Given the description of an element on the screen output the (x, y) to click on. 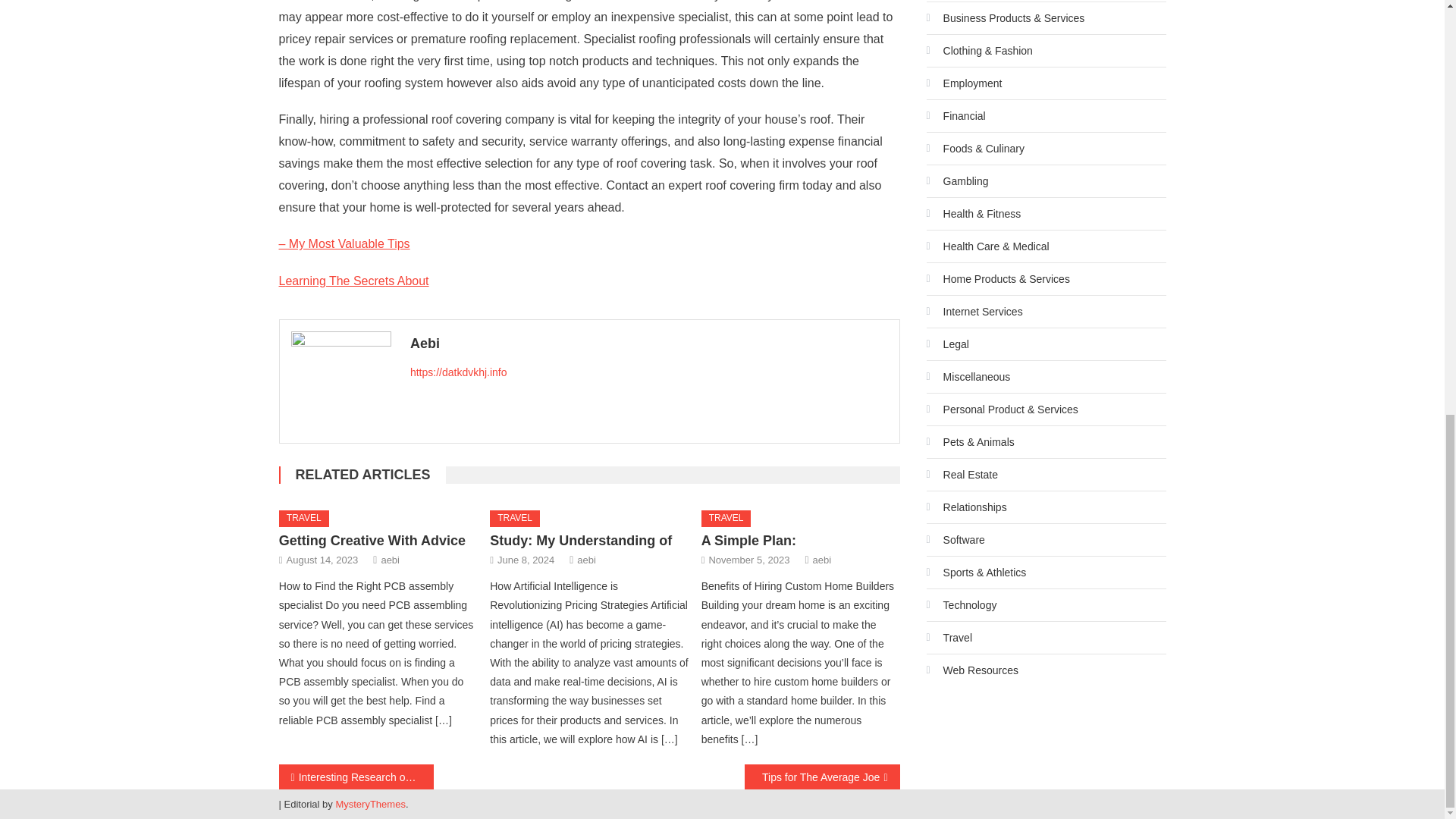
TRAVEL (514, 518)
TRAVEL (726, 518)
TRAVEL (304, 518)
aebi (821, 559)
A Simple Plan: (748, 540)
Aebi (649, 343)
aebi (389, 559)
aebi (585, 559)
Study: My Understanding of (580, 540)
June 8, 2024 (525, 559)
Getting Creative With Advice (372, 540)
Learning The Secrets About (354, 280)
November 5, 2023 (748, 559)
August 14, 2023 (322, 559)
Tips for The Average Joe (821, 776)
